Given the description of an element on the screen output the (x, y) to click on. 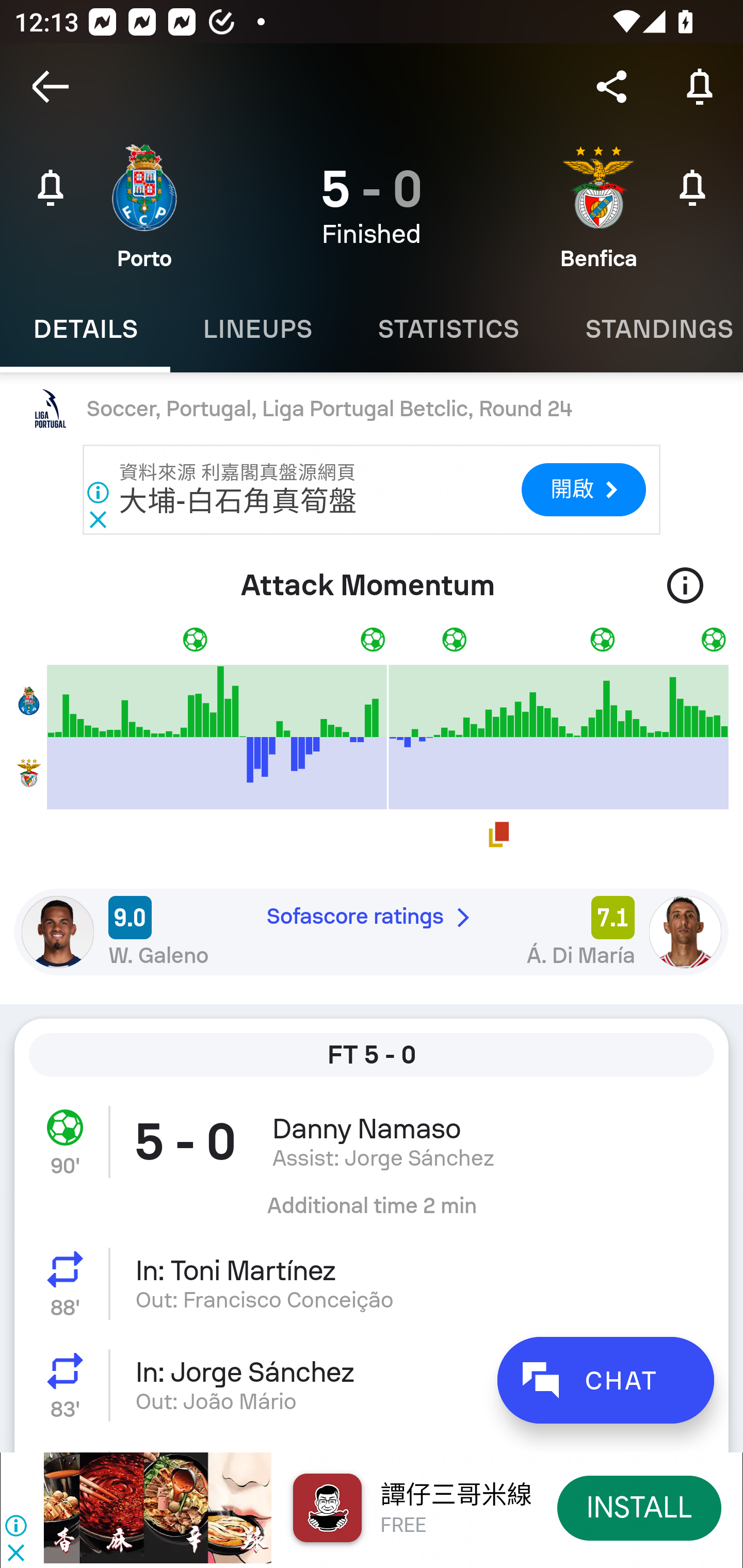
Navigate up (50, 86)
Lineups LINEUPS (257, 329)
Statistics STATISTICS (448, 329)
Standings STANDINGS (647, 329)
Soccer, Portugal, Liga Portugal Betclic, Round 24 (371, 409)
資料來源 利嘉閣真盤源網頁 (237, 472)
開啟 (583, 489)
大埔-白石角真筍盤 (238, 501)
9.0 Sofascore ratings 7.1 W. Galeno Á. Di María (371, 932)
FT 5 - 0 (371, 1055)
Additional time 2 min (371, 1212)
Substitution In: Jorge Sánchez 83' Out: João Mário (371, 1385)
CHAT (605, 1380)
INSTALL (639, 1507)
譚仔三哥米線 (455, 1494)
FREE (403, 1525)
